Given the description of an element on the screen output the (x, y) to click on. 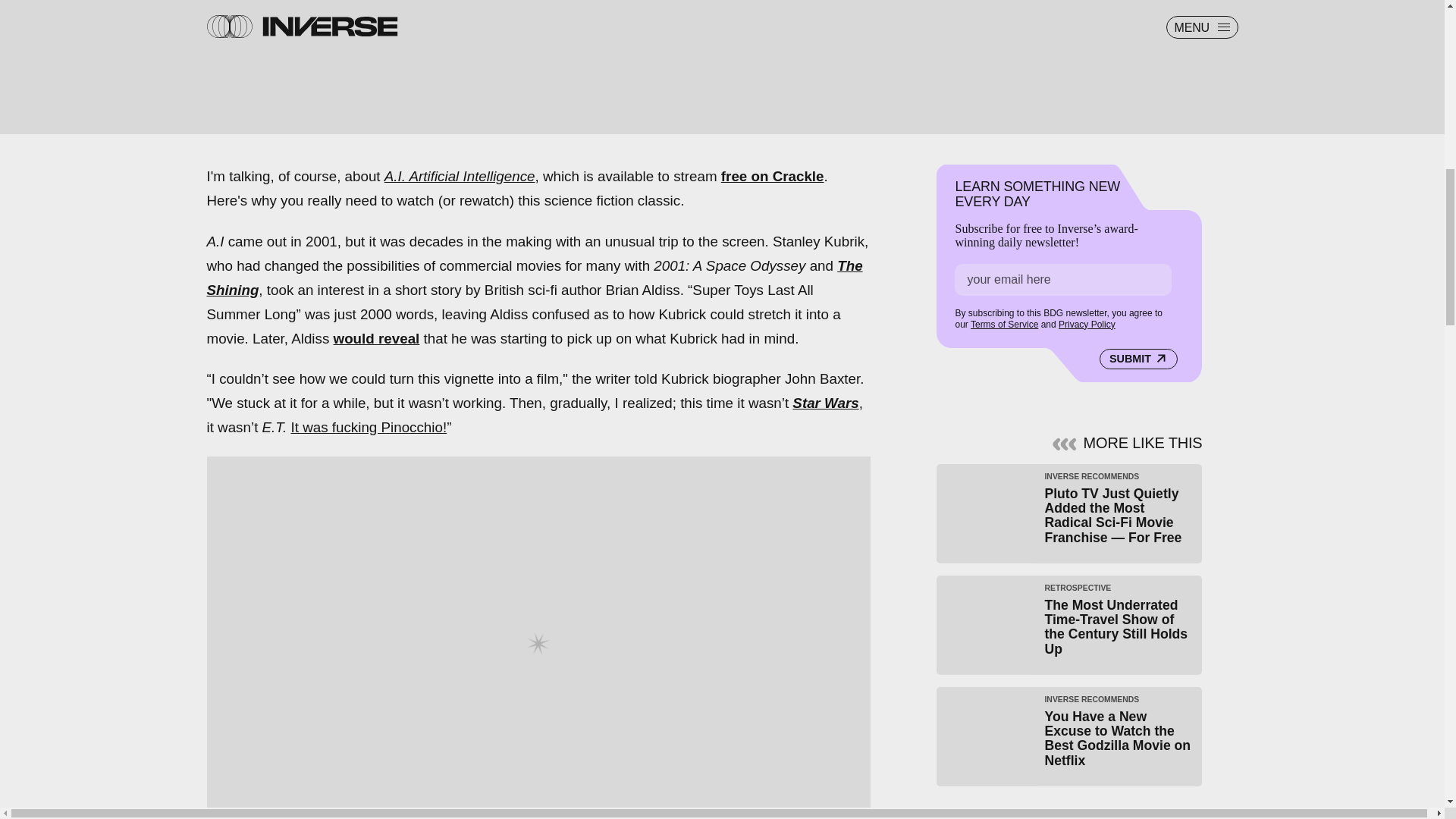
free on Crackle (772, 176)
The Shining (533, 277)
Privacy Policy (1086, 324)
SUBMIT (1138, 359)
would reveal (376, 338)
Terms of Service (1004, 324)
Star Wars (825, 402)
